Given the description of an element on the screen output the (x, y) to click on. 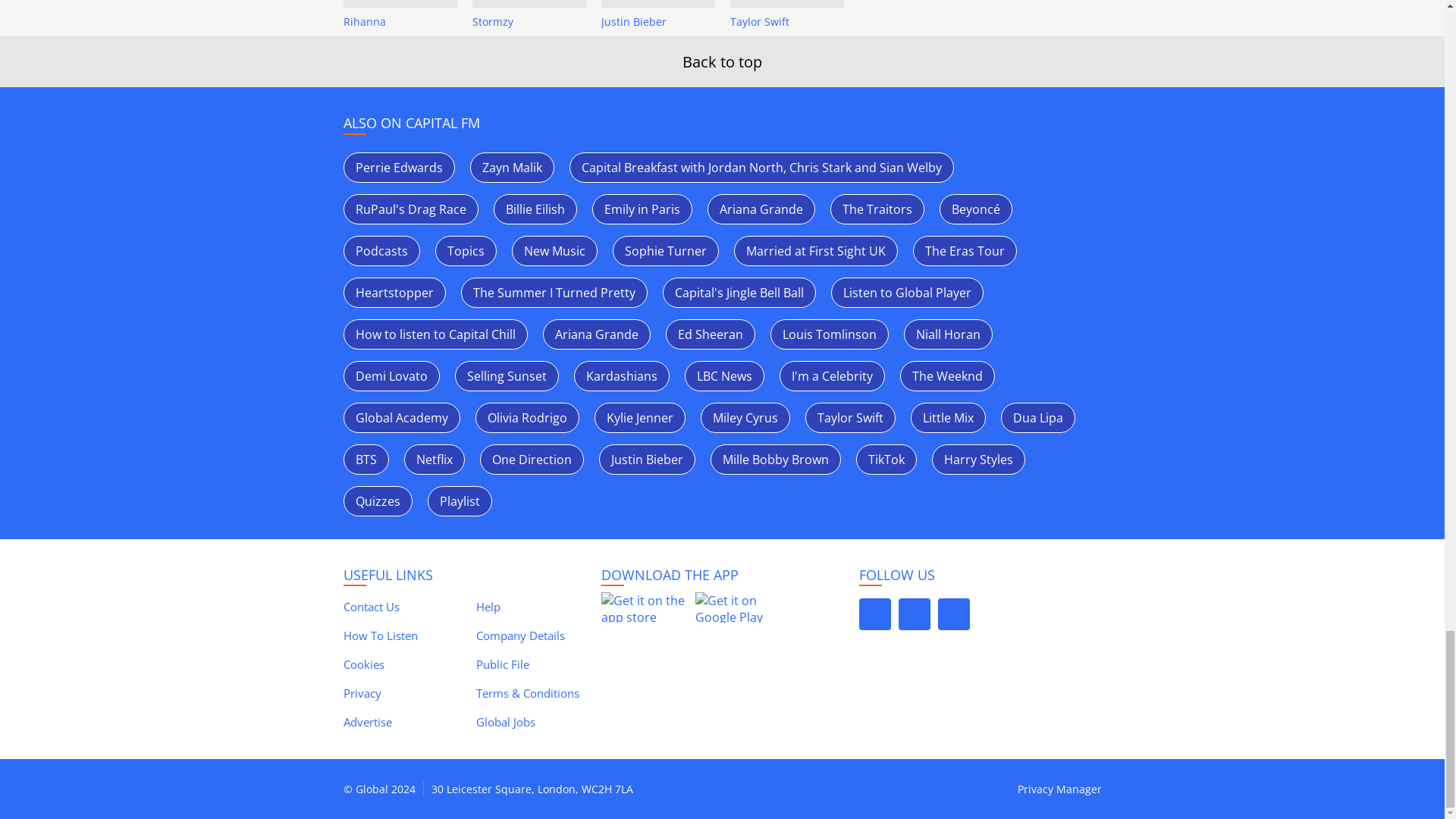
Follow Capital on Youtube (953, 613)
Back to top (721, 61)
Follow Capital on Facebook (874, 613)
Follow Capital on Instagram (914, 613)
